Given the description of an element on the screen output the (x, y) to click on. 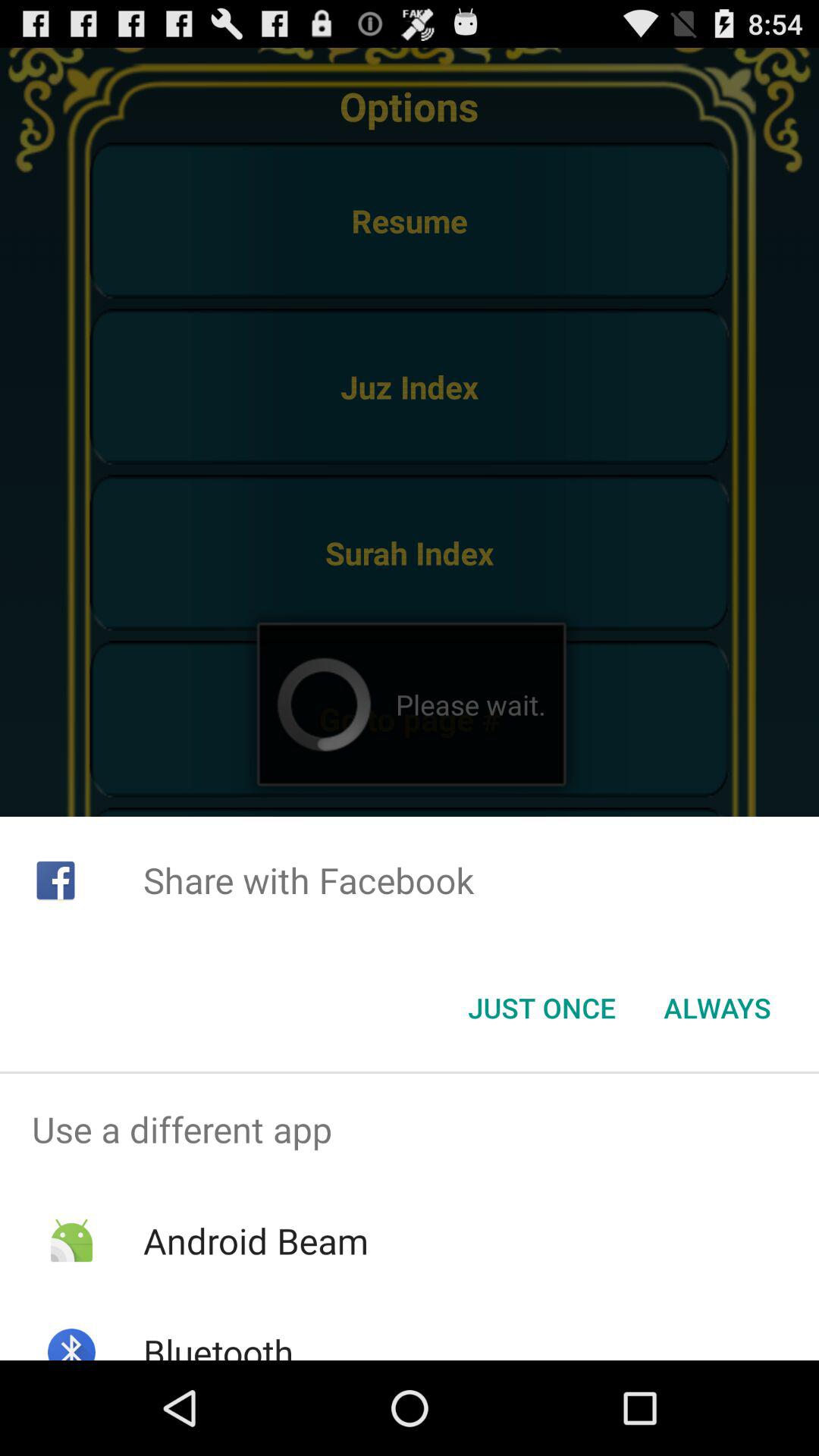
select the item next to always button (541, 1007)
